Given the description of an element on the screen output the (x, y) to click on. 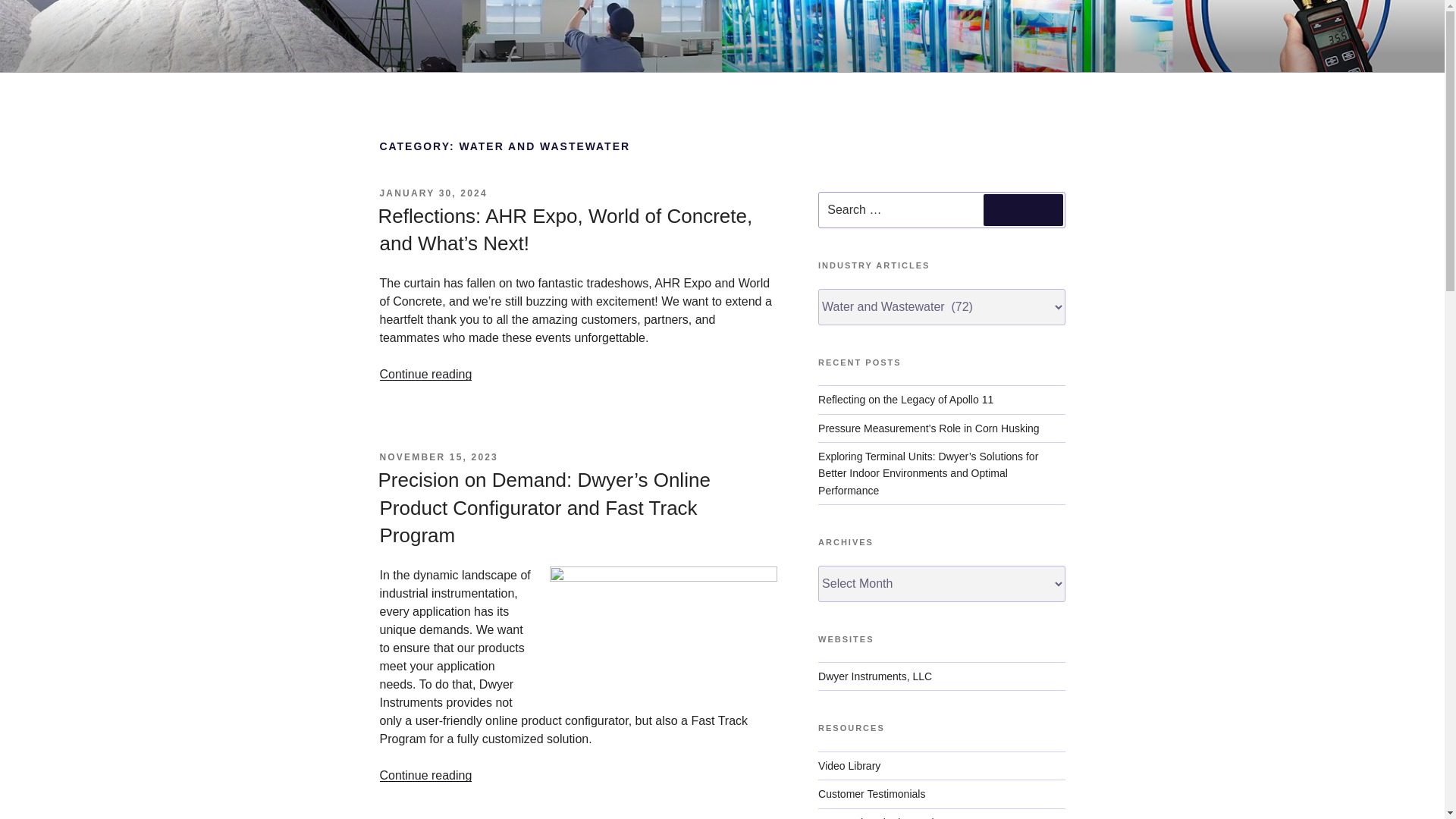
DWYER INSTRUMENTS BLOG (598, 52)
NOVEMBER 15, 2023 (437, 457)
Search (1023, 210)
JANUARY 30, 2024 (432, 193)
Video Library (849, 766)
Reflecting on the Legacy of Apollo 11 (905, 399)
Frequently Asked Questions (884, 817)
Dwyer Instruments, LLC (874, 676)
Customer Testimonials (871, 793)
